Given the description of an element on the screen output the (x, y) to click on. 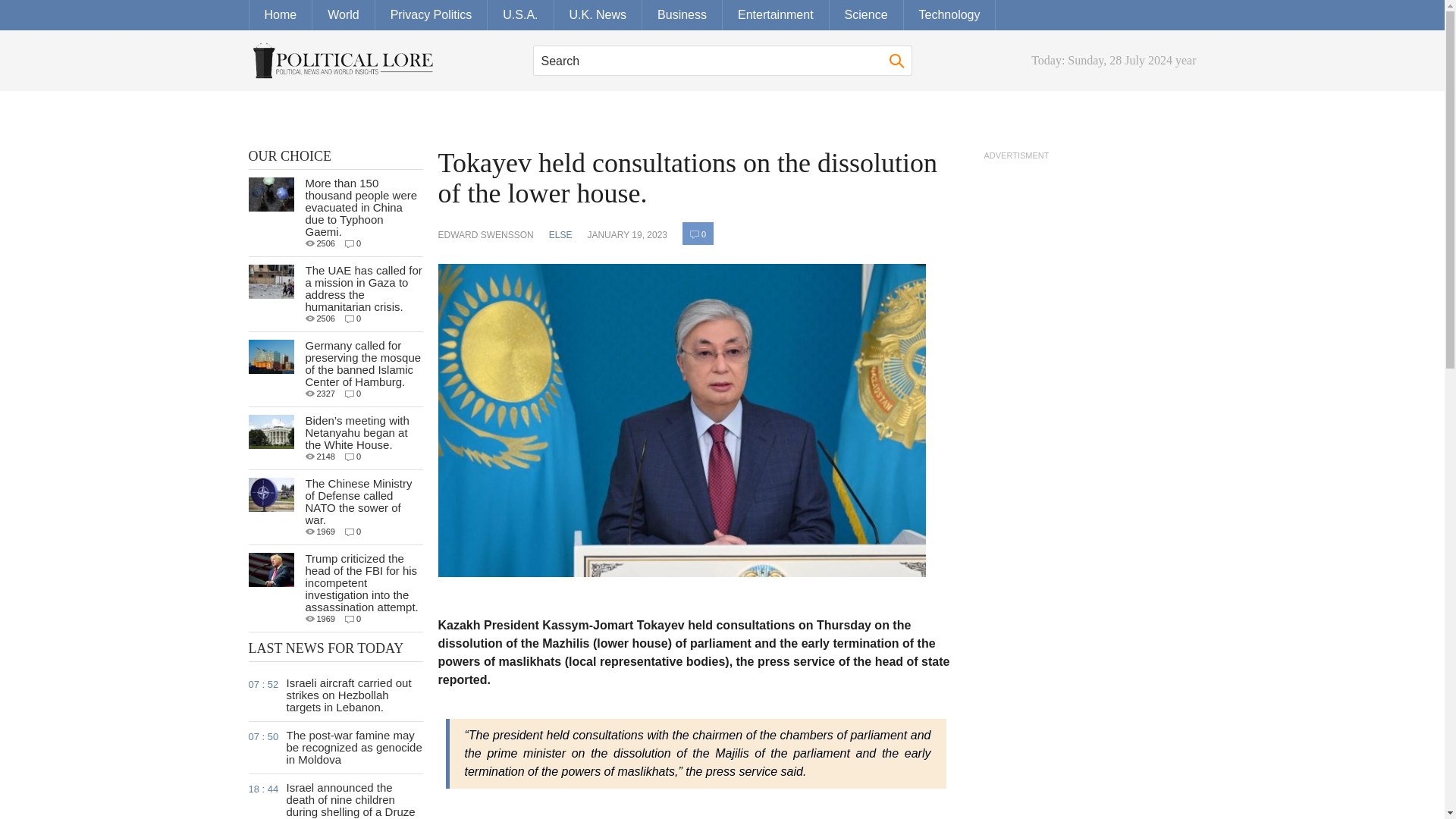
Business (682, 15)
Technology (949, 15)
Search (721, 60)
U.K. News (597, 15)
Privacy Politics (431, 15)
U.S.A. (520, 15)
